Given the description of an element on the screen output the (x, y) to click on. 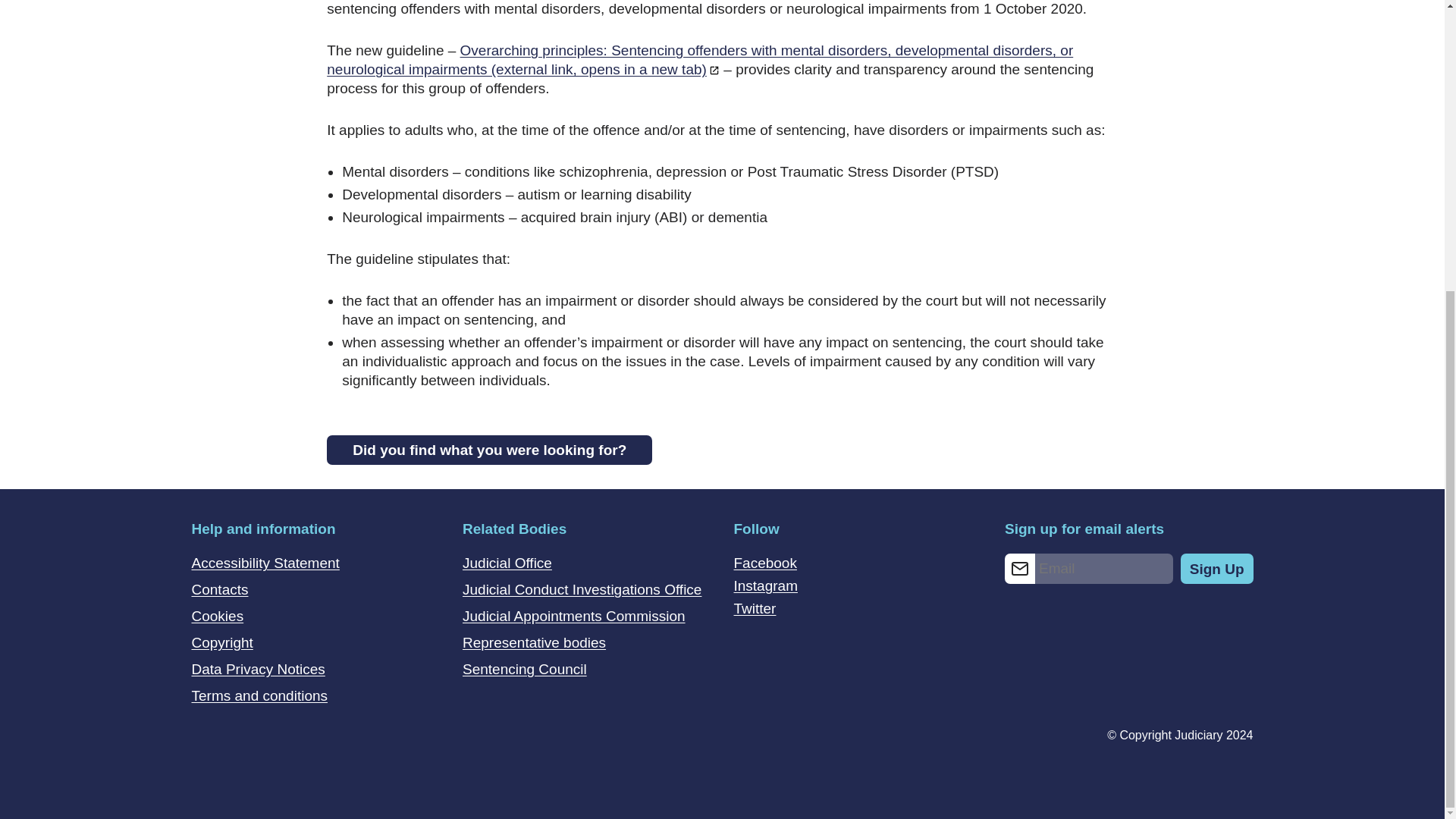
Sign Up (1216, 568)
